Given the description of an element on the screen output the (x, y) to click on. 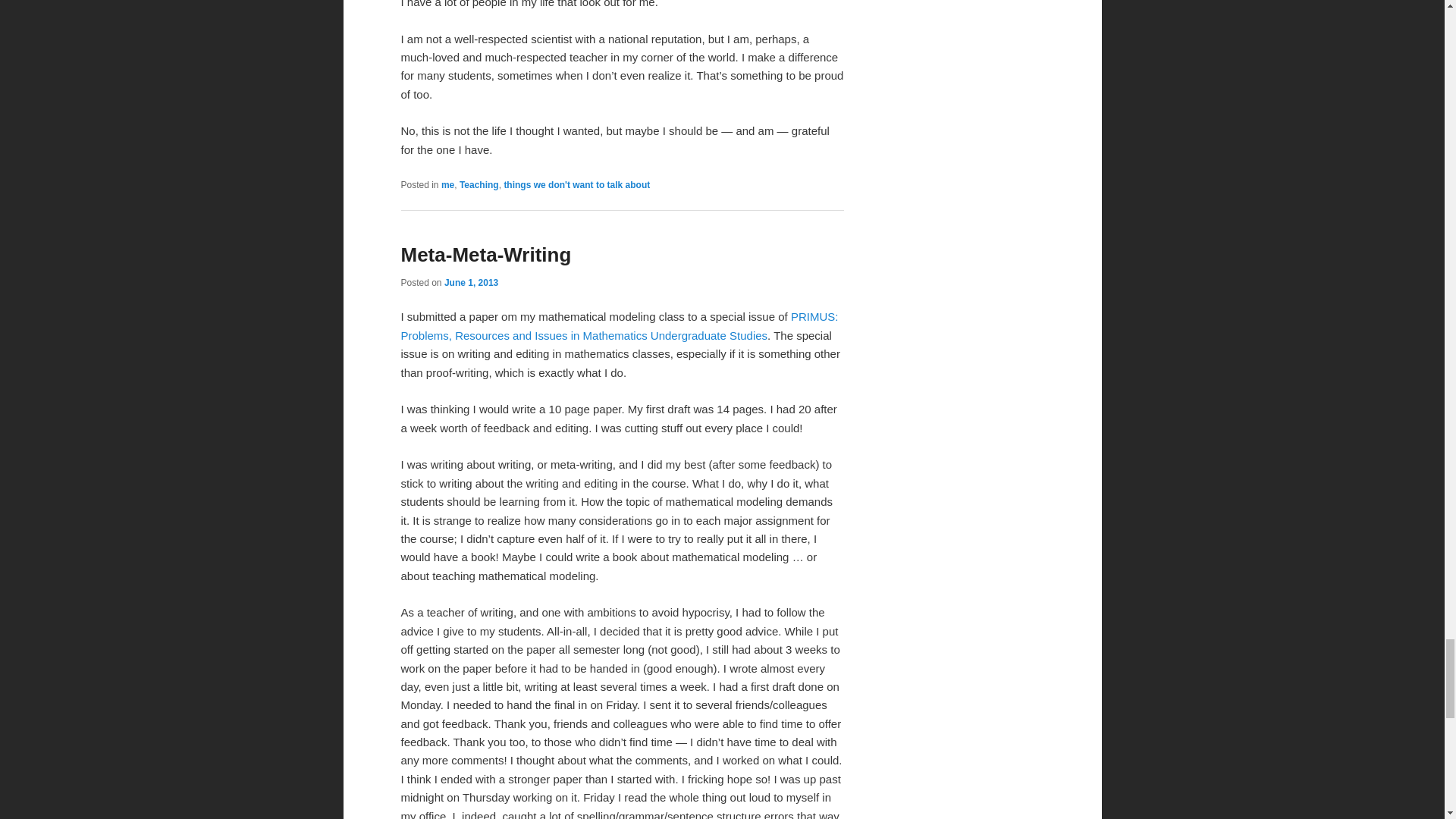
10:32 pm (470, 282)
